Given the description of an element on the screen output the (x, y) to click on. 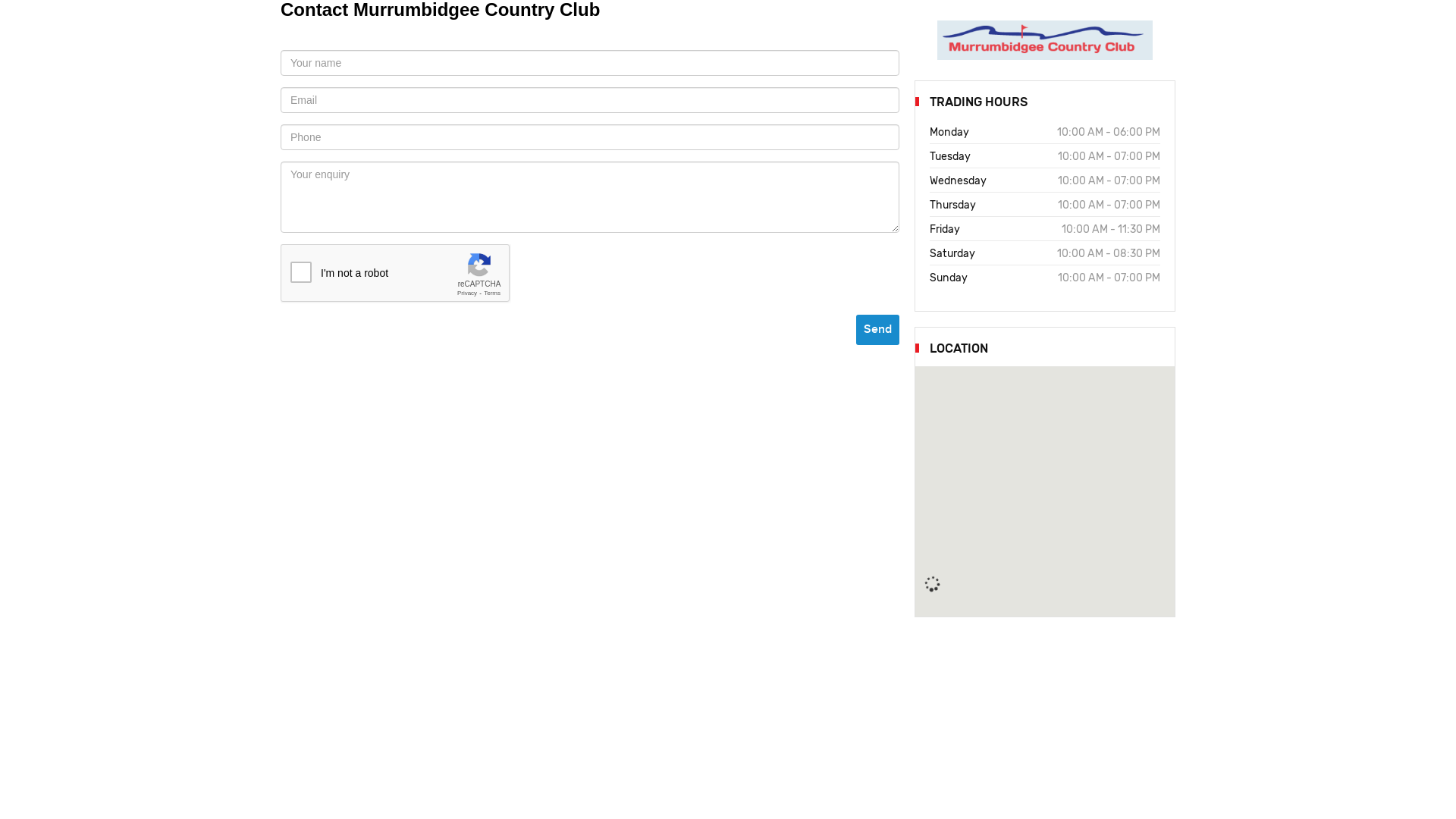
Send Element type: text (877, 329)
reCAPTCHA Element type: hover (395, 273)
